Given the description of an element on the screen output the (x, y) to click on. 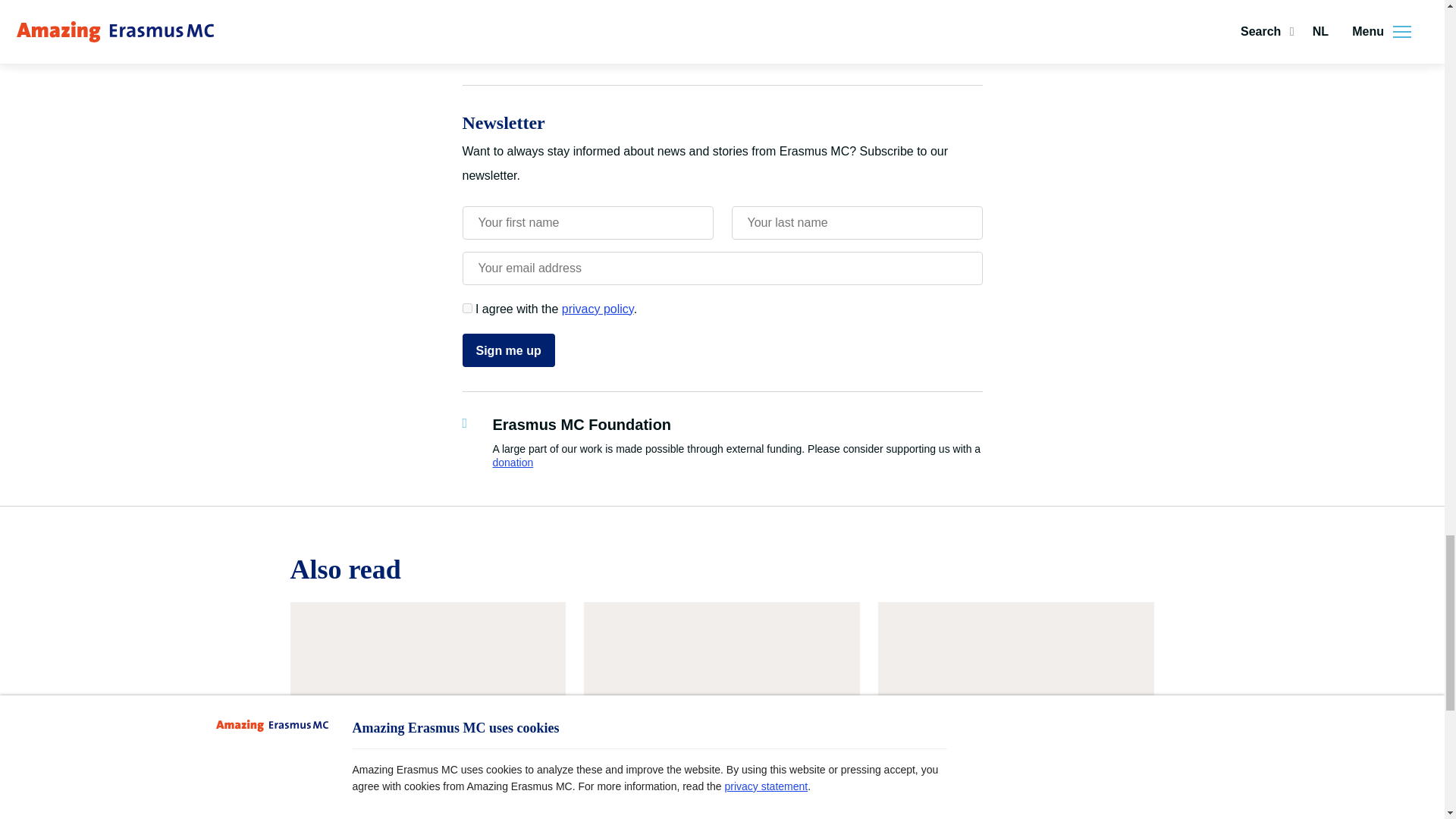
privacy policy (597, 308)
donation (513, 462)
Your first name (588, 222)
Your last name (855, 222)
Sign me up (508, 349)
Your email address (722, 268)
I find this interesting (542, 19)
on (467, 307)
